Given the description of an element on the screen output the (x, y) to click on. 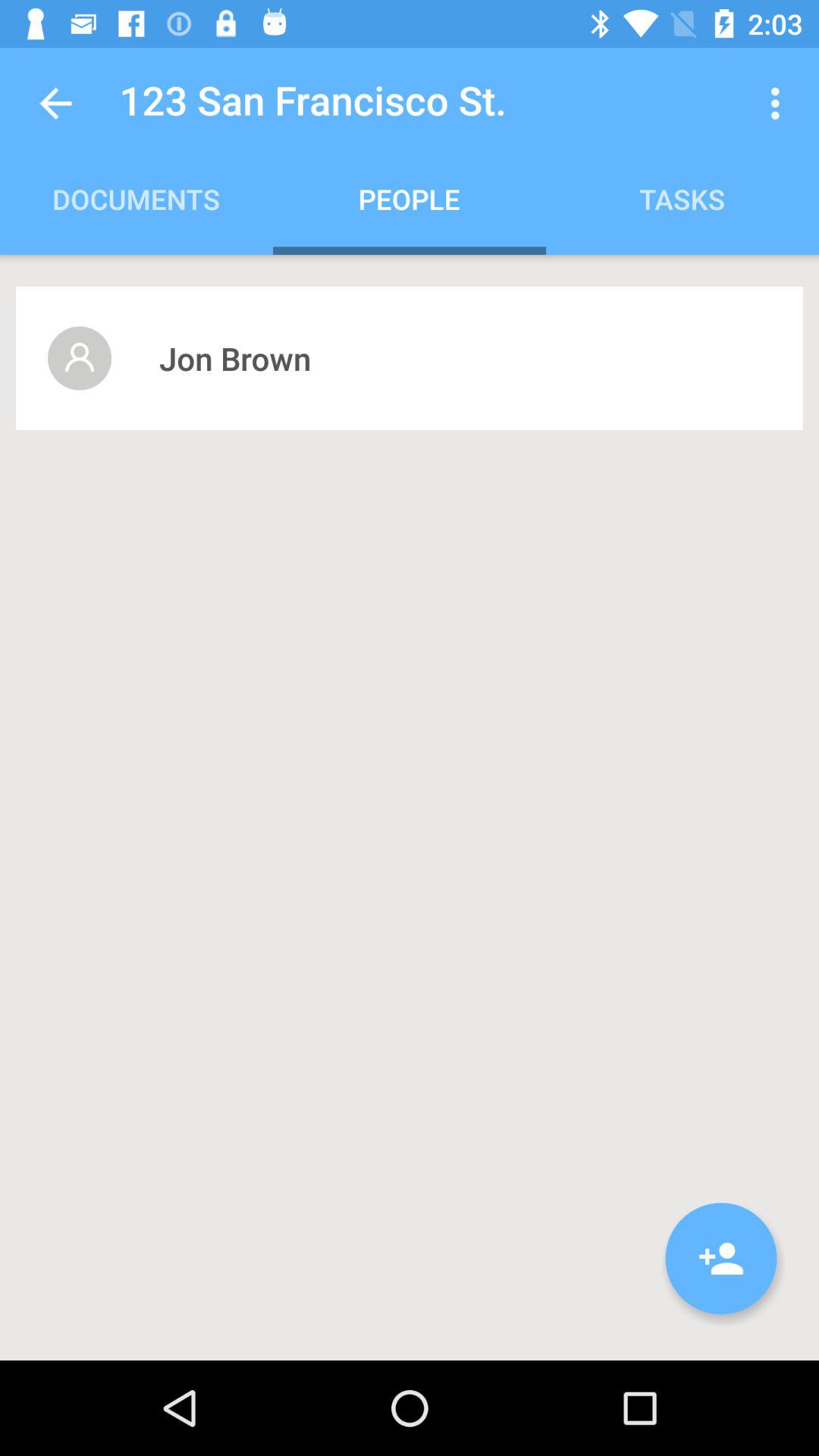
turn on the item at the bottom right corner (721, 1258)
